Given the description of an element on the screen output the (x, y) to click on. 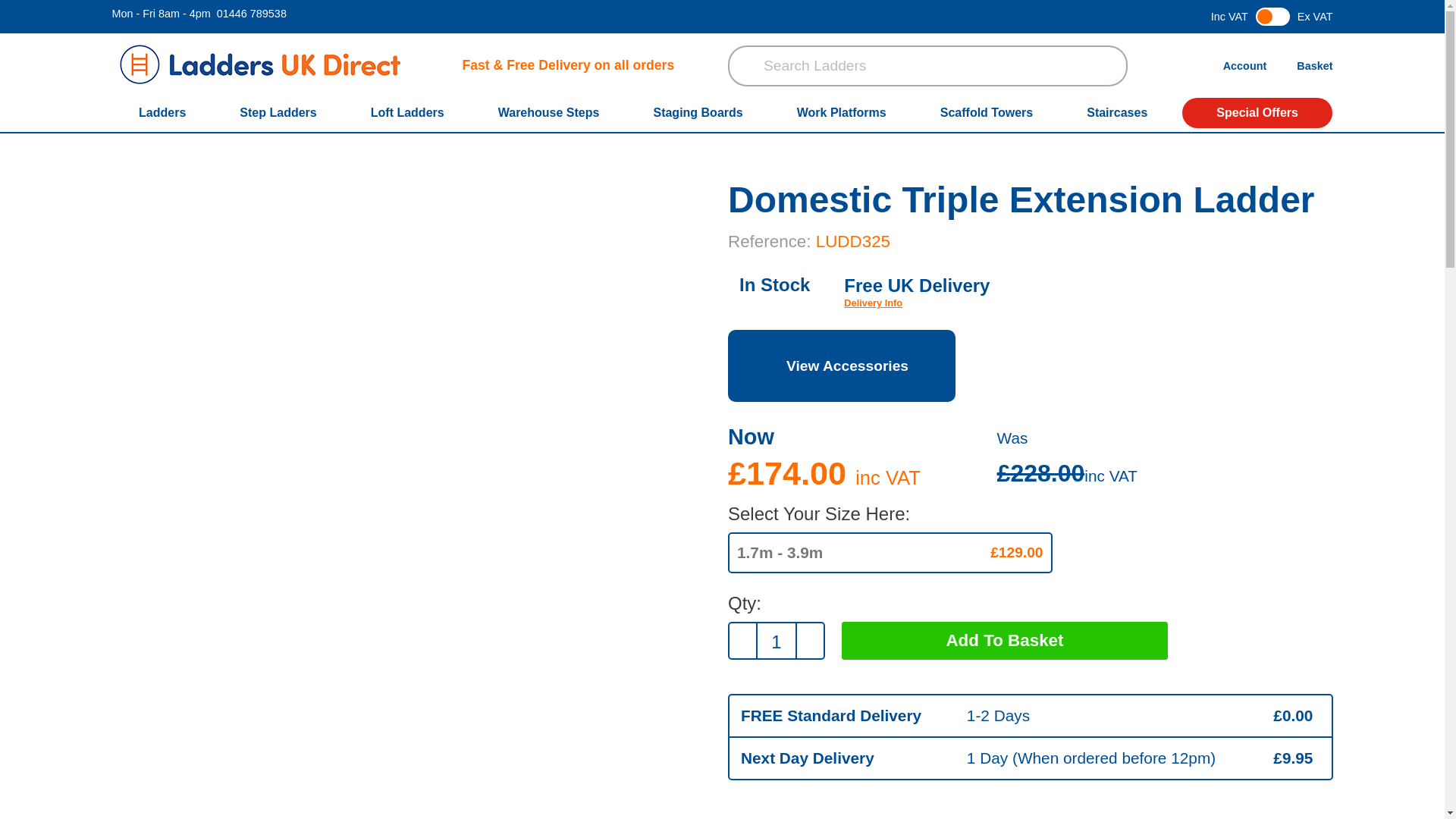
Account (1240, 64)
1 (775, 641)
Ladders (165, 112)
Account (1240, 64)
01446 789538 (251, 13)
Basket (1310, 64)
call us today on 01446 789538 (251, 13)
Ladders UK Direct Ltd (259, 65)
